Given the description of an element on the screen output the (x, y) to click on. 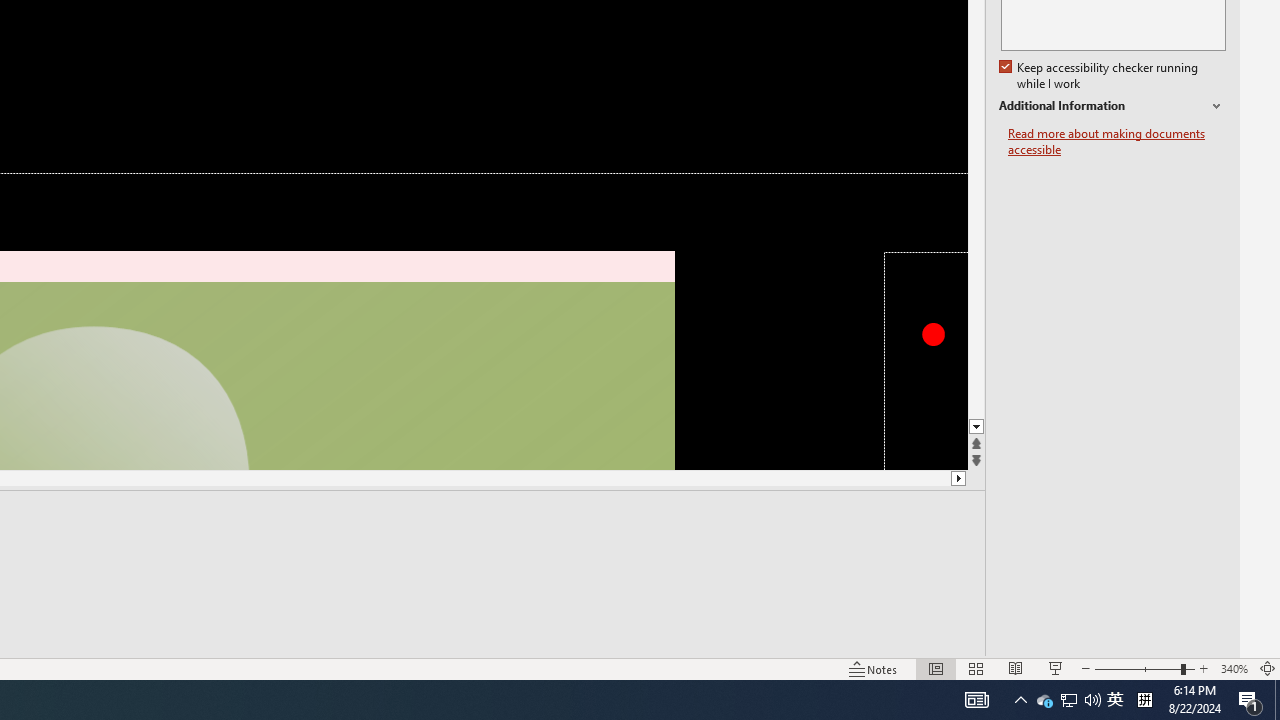
Zoom 340% (1234, 668)
